Given the description of an element on the screen output the (x, y) to click on. 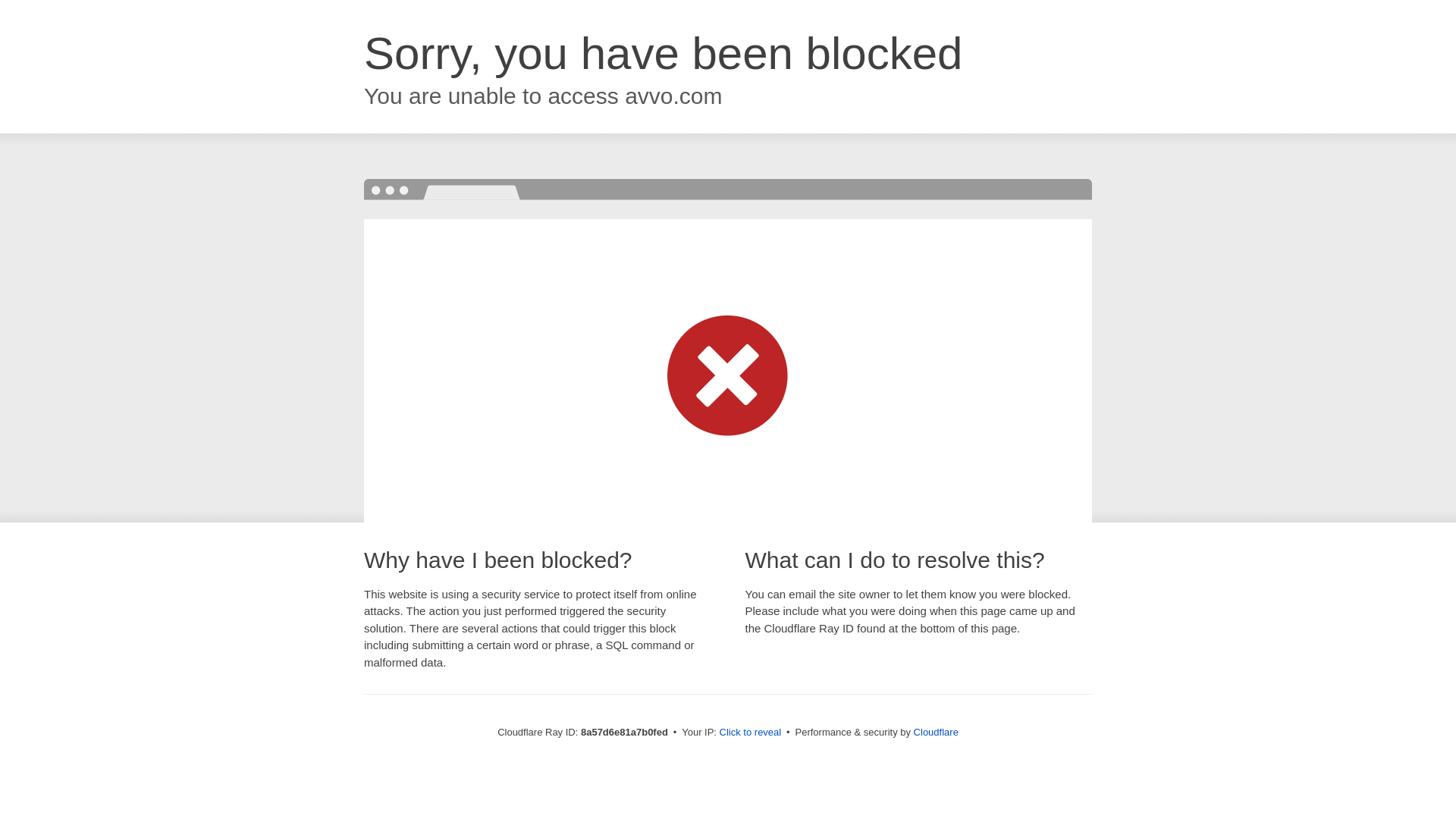
Cloudflare (936, 731)
Click to reveal (750, 732)
